Given the description of an element on the screen output the (x, y) to click on. 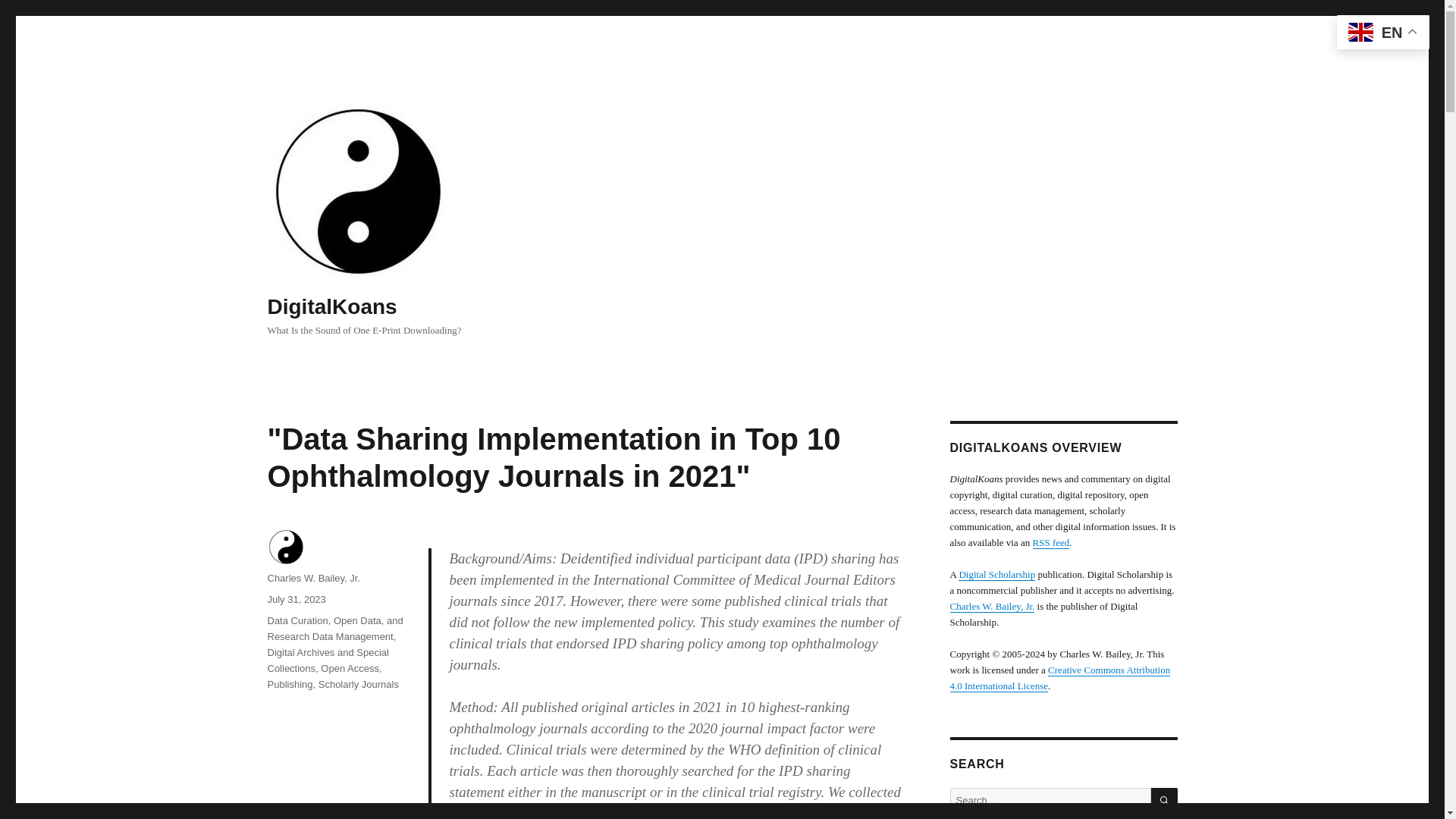
SEARCH (1164, 800)
Charles W. Bailey, Jr. (991, 605)
Digital Scholarship (996, 573)
Data Curation, Open Data, and Research Data Management (334, 628)
Creative Commons Attribution 4.0 International License (1059, 677)
Publishing (289, 684)
Digital Archives and Special Collections (327, 660)
RSS feed (1051, 542)
July 31, 2023 (295, 599)
Open Access (349, 668)
